Given the description of an element on the screen output the (x, y) to click on. 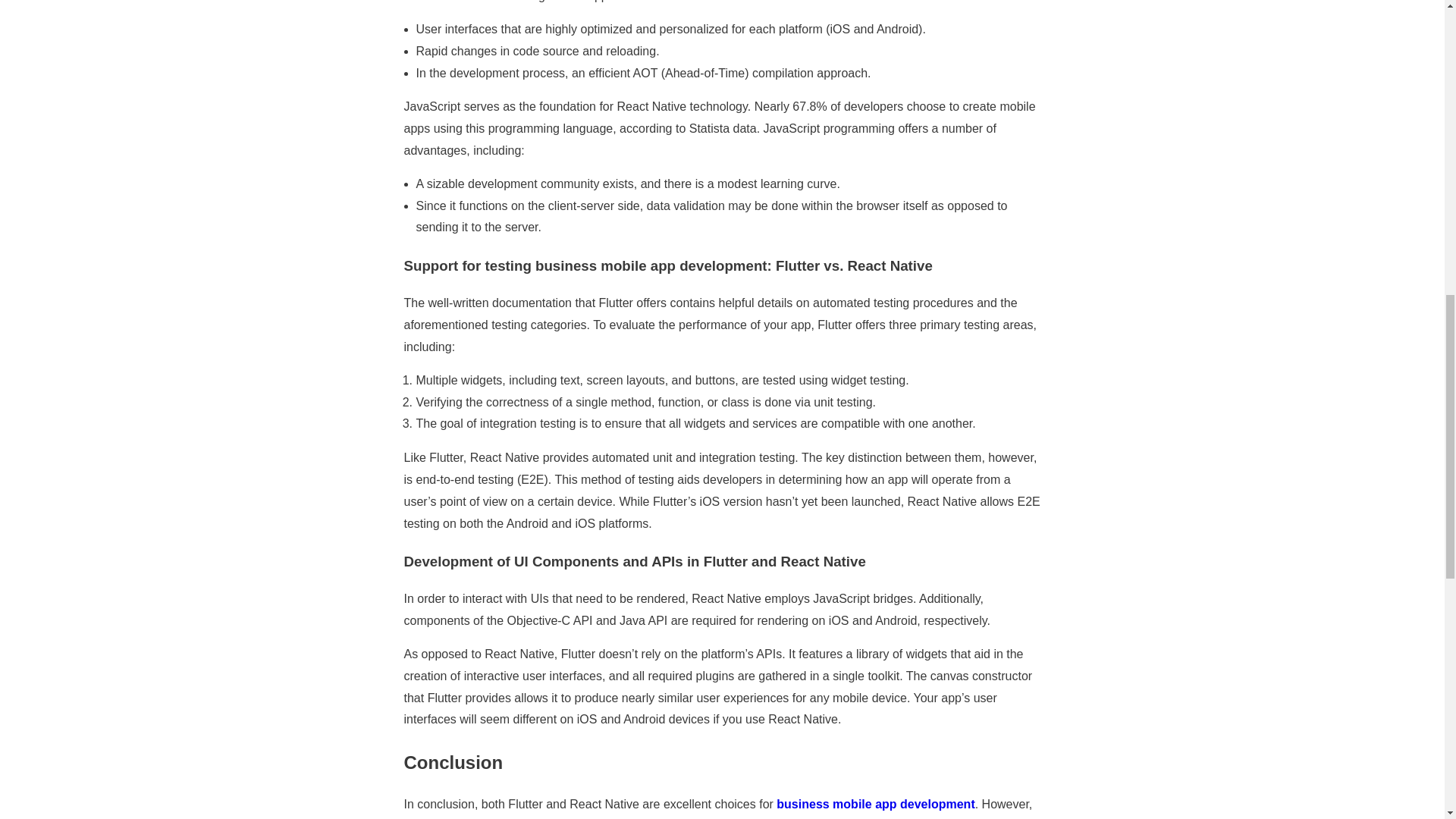
business mobile app development (875, 803)
